Given the description of an element on the screen output the (x, y) to click on. 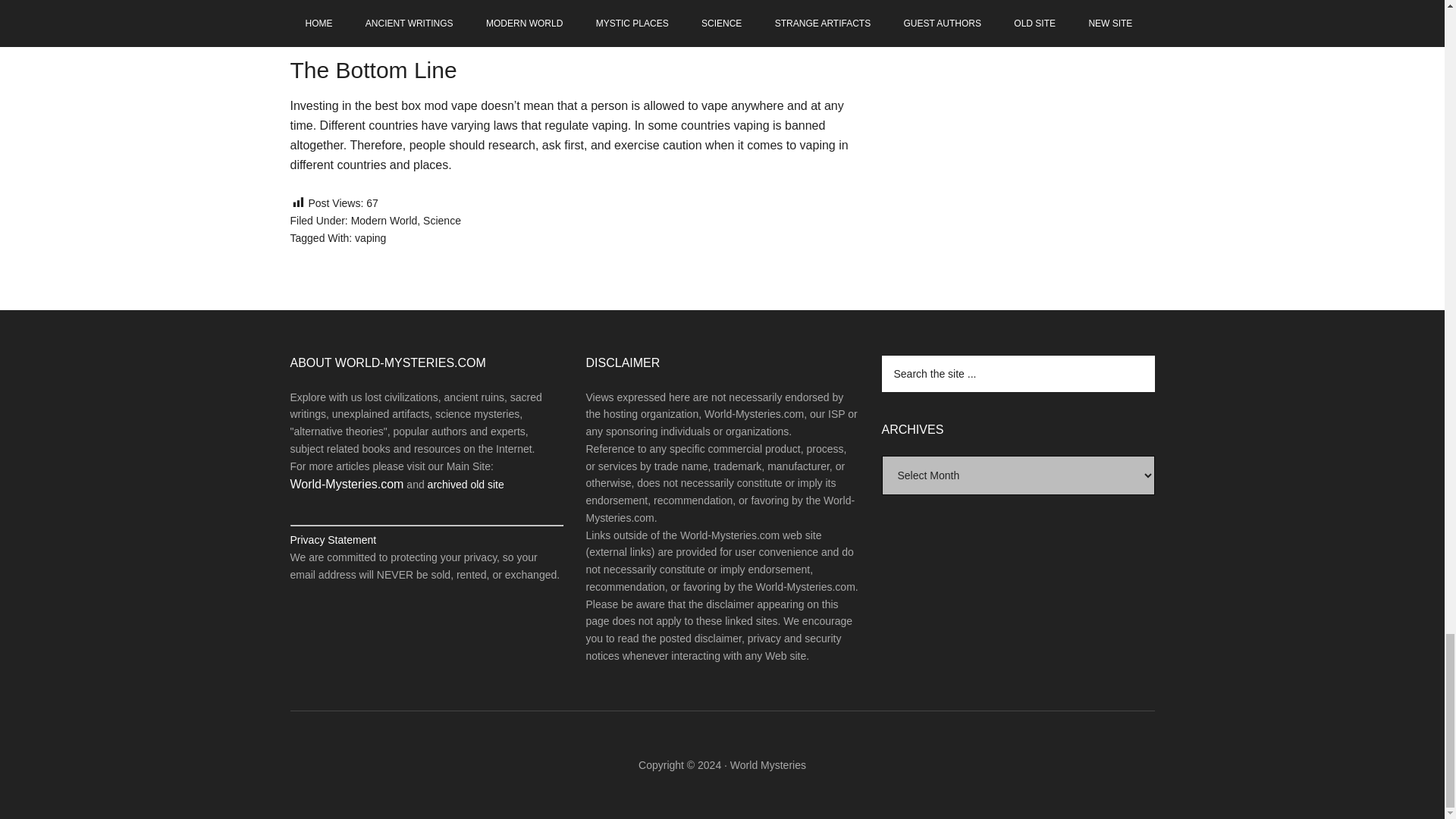
archived old site (465, 484)
vaping (370, 237)
Modern World (383, 220)
Privacy Statement (332, 539)
Science (442, 220)
World-Mysteries.com (346, 484)
World Mysteries (768, 765)
